Given the description of an element on the screen output the (x, y) to click on. 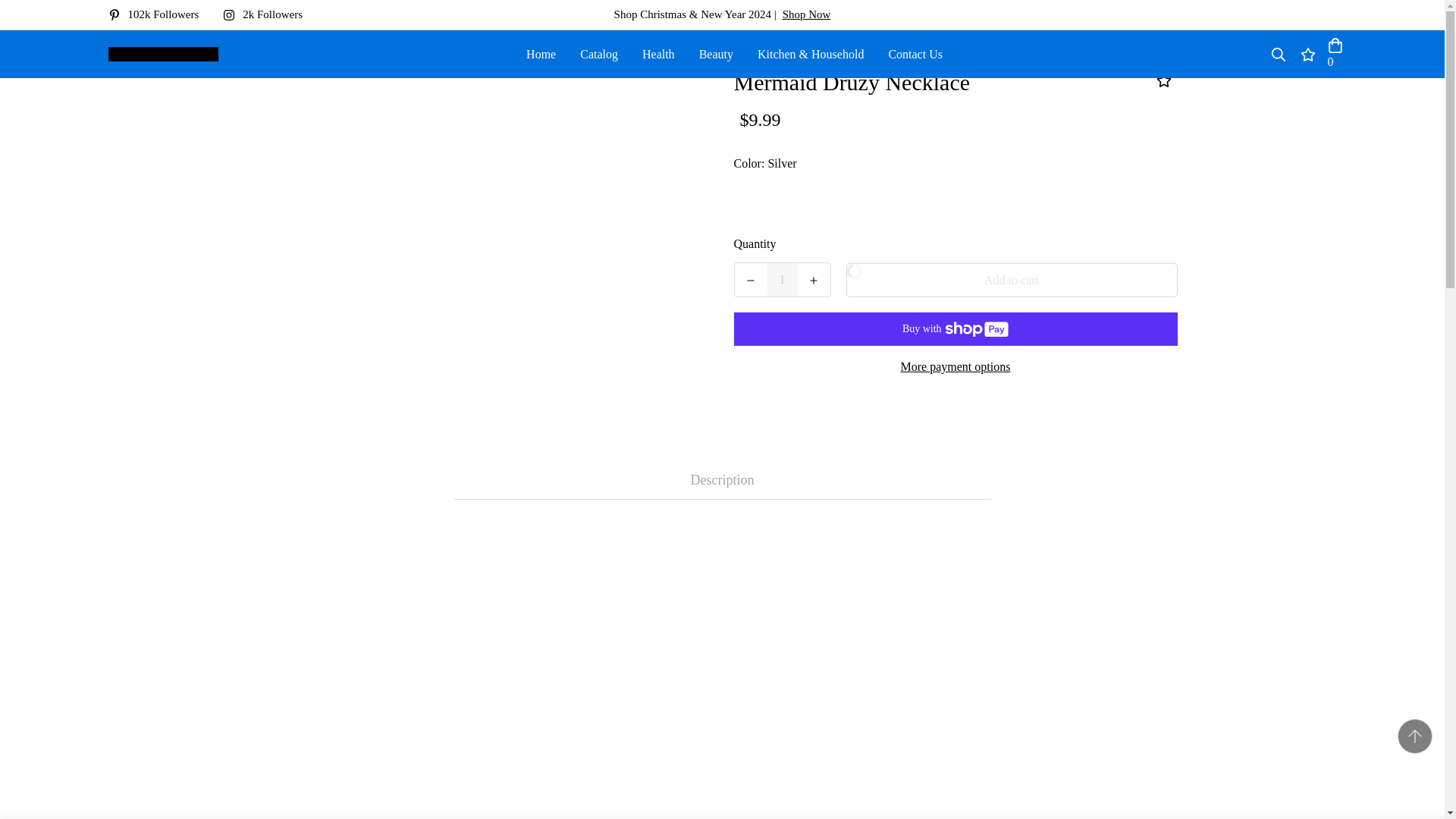
102k Followers (158, 14)
Catalog (598, 53)
Health (658, 53)
2k Followers (268, 14)
Contact Us (915, 53)
Home (540, 53)
1 (782, 279)
Shop Now (807, 14)
Beauty (716, 53)
